Given the description of an element on the screen output the (x, y) to click on. 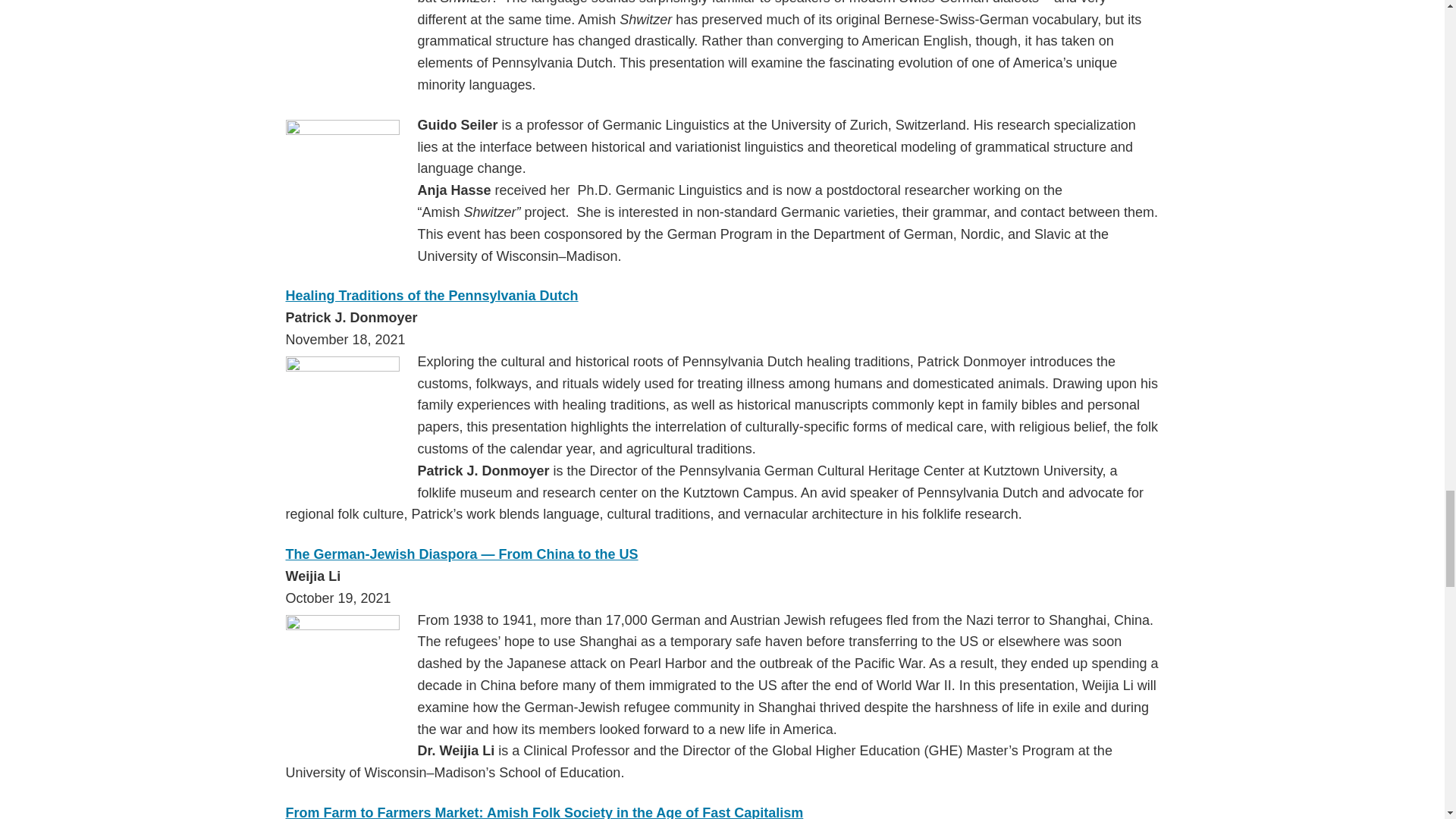
Healing Traditions of the Pennsylvania Dutch (431, 295)
